Given the description of an element on the screen output the (x, y) to click on. 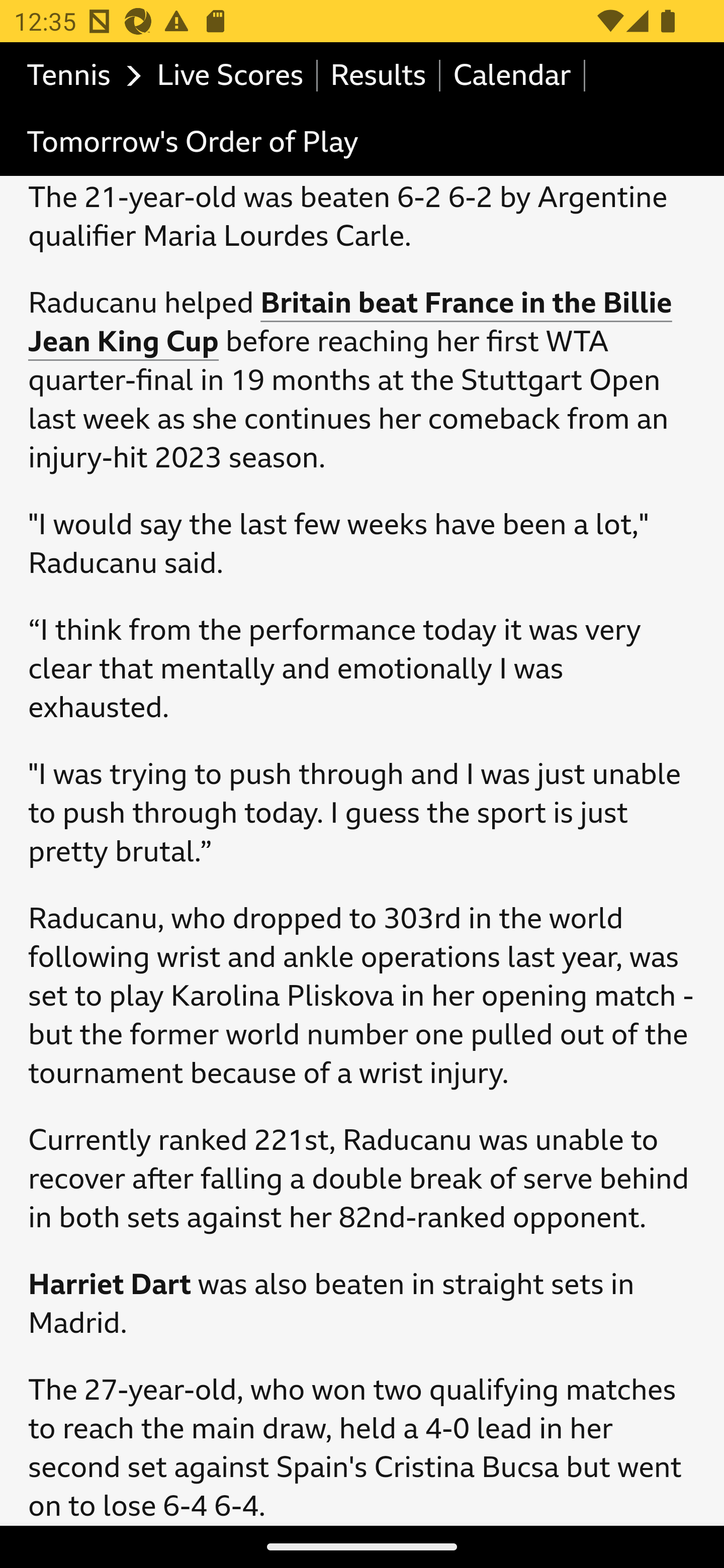
Britain beat France in the Billie Jean King Cup (351, 323)
